Given the description of an element on the screen output the (x, y) to click on. 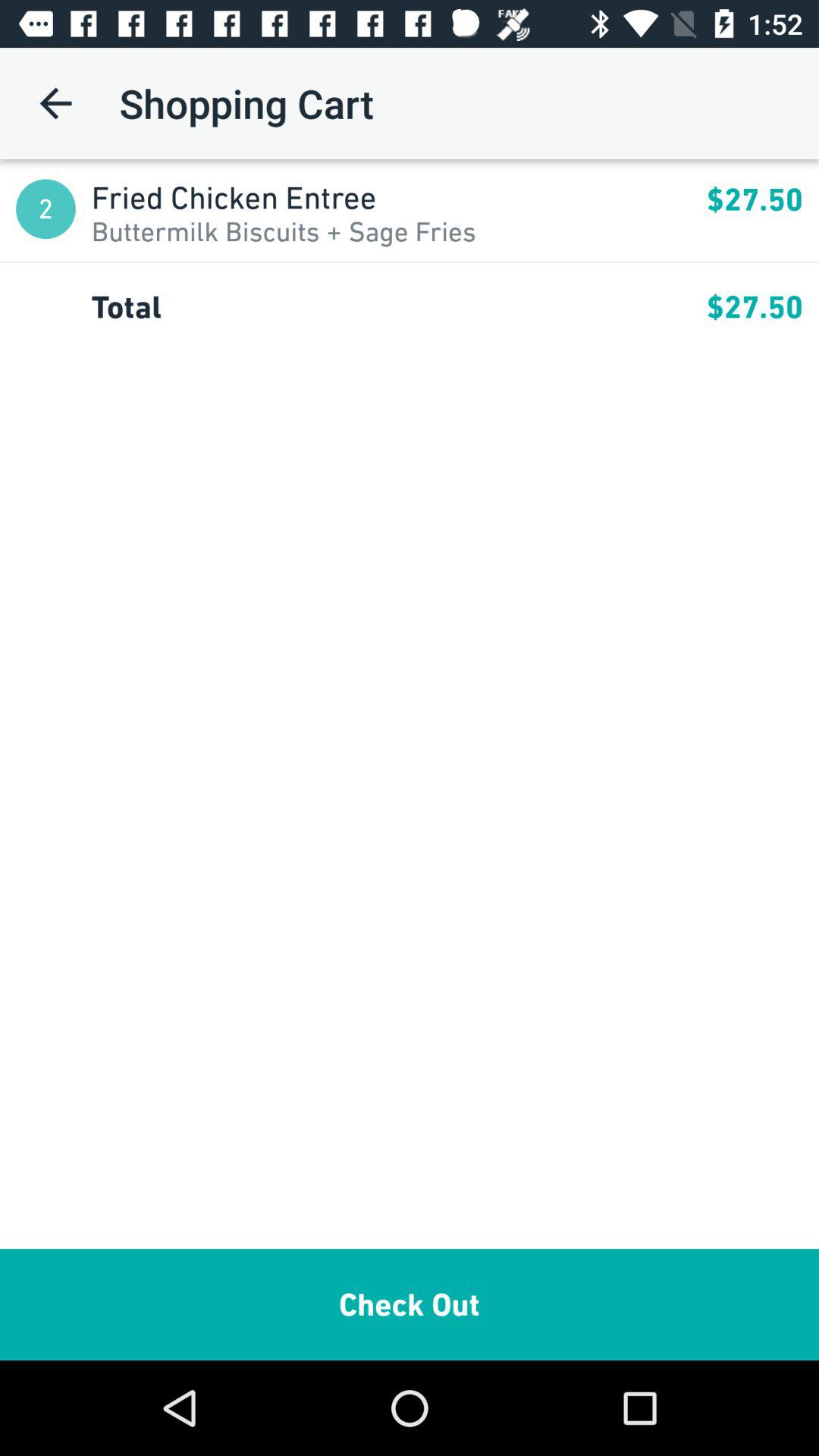
flip until 2 app (45, 208)
